Given the description of an element on the screen output the (x, y) to click on. 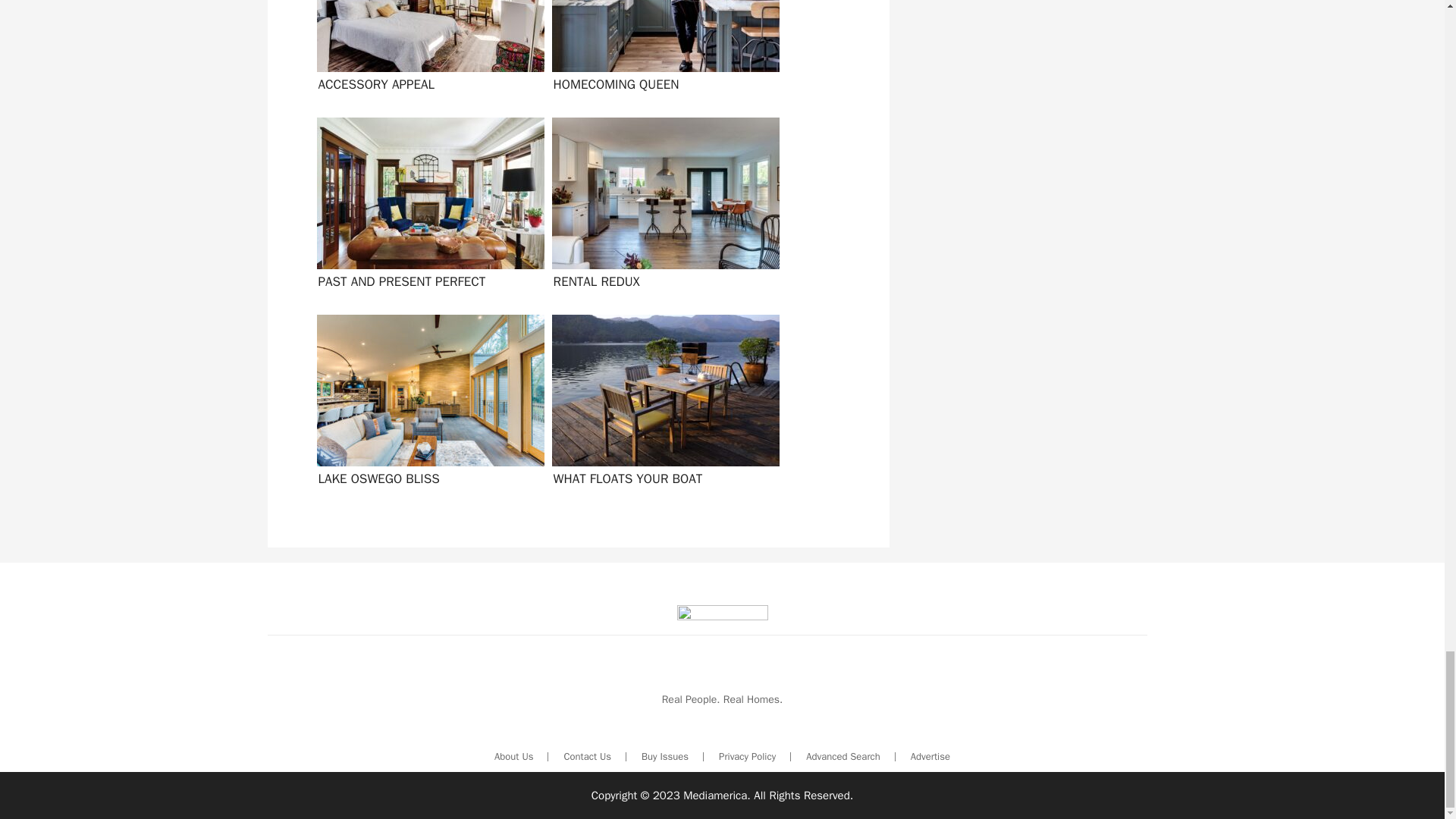
Accessory Appeal (426, 53)
Homecoming Queen (662, 53)
Rental Redux (662, 208)
Lake Oswego Bliss (426, 405)
Past and Present Perfect (426, 208)
What Floats Your Boat (662, 405)
